Given the description of an element on the screen output the (x, y) to click on. 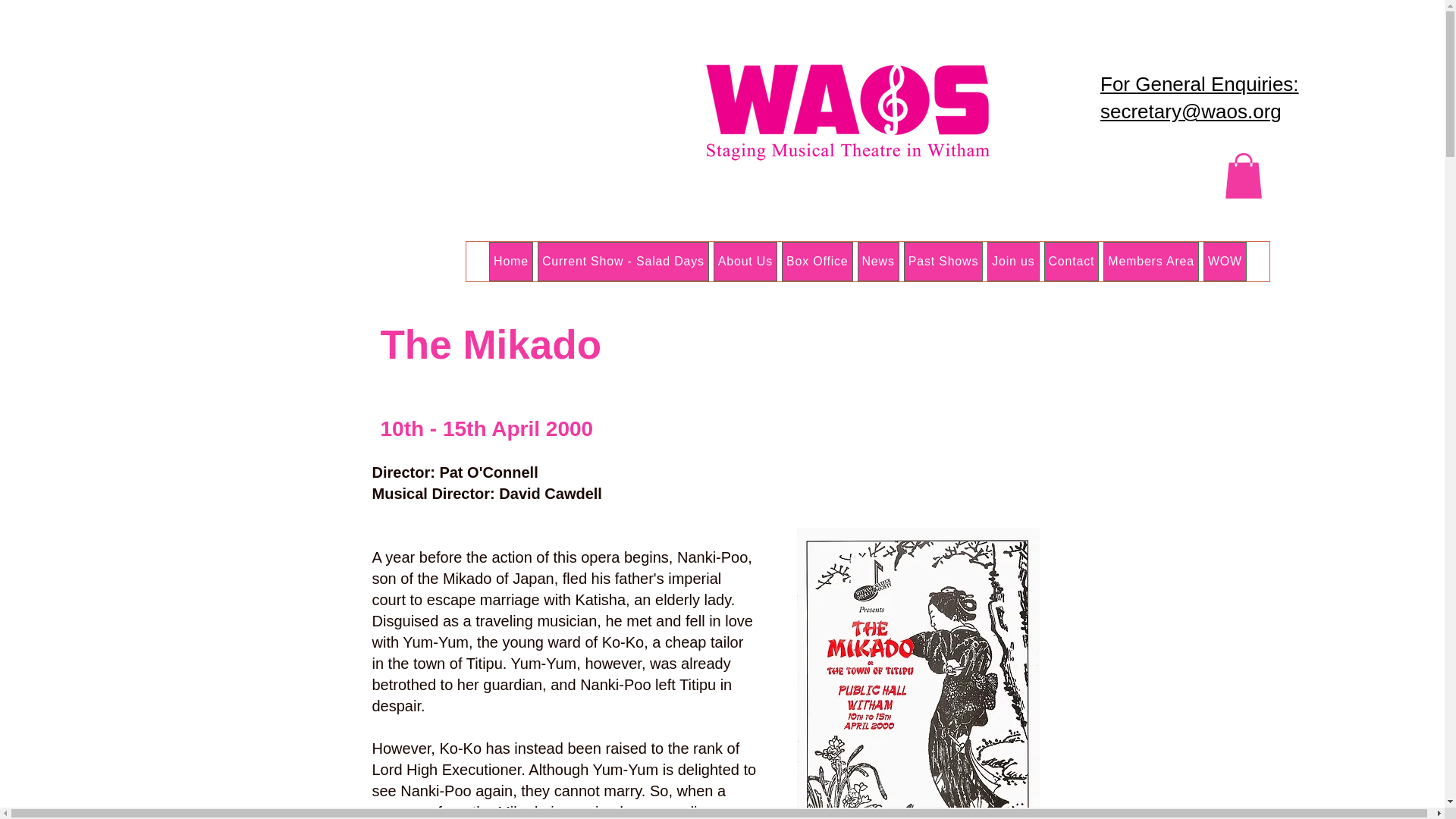
Box Office (817, 261)
Contact (1071, 261)
Past Shows (943, 261)
About Us (745, 261)
Home (510, 261)
Members Area (1150, 261)
Current Show - Salad Days (623, 261)
News (878, 261)
Join us (1013, 261)
WOW (1225, 261)
